Given the description of an element on the screen output the (x, y) to click on. 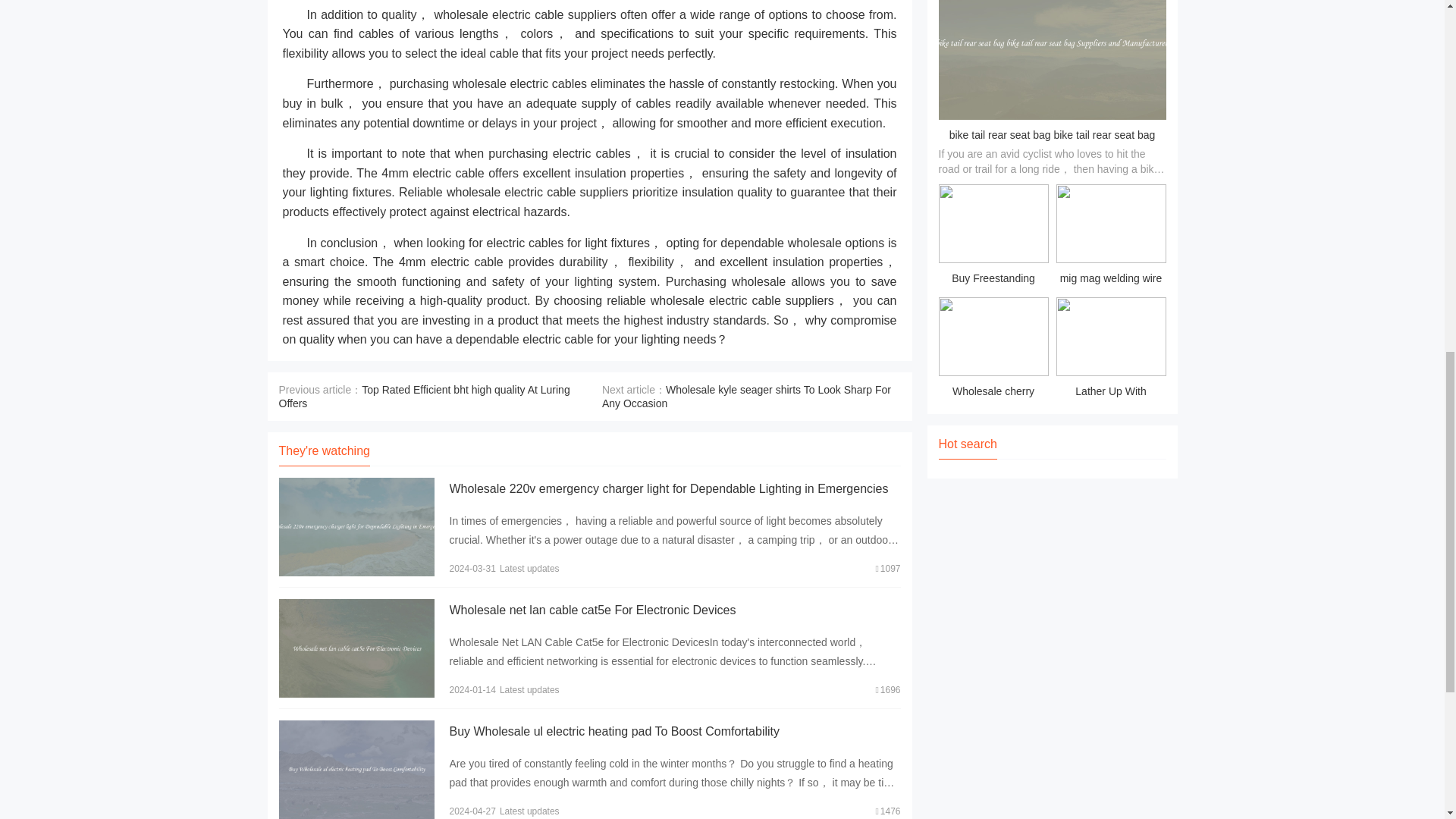
Wholesale net lan cable cat5e For Electronic Devices (591, 609)
Wholesale kyle seager shirts To Look Sharp For Any Occasion (746, 396)
Buy Freestanding double side pop screen with Custom Designs (993, 236)
Lather Up With Popular Wholesale wind washing (1110, 349)
Top Rated Efficient bht high quality At Luring Offers (424, 396)
